Given the description of an element on the screen output the (x, y) to click on. 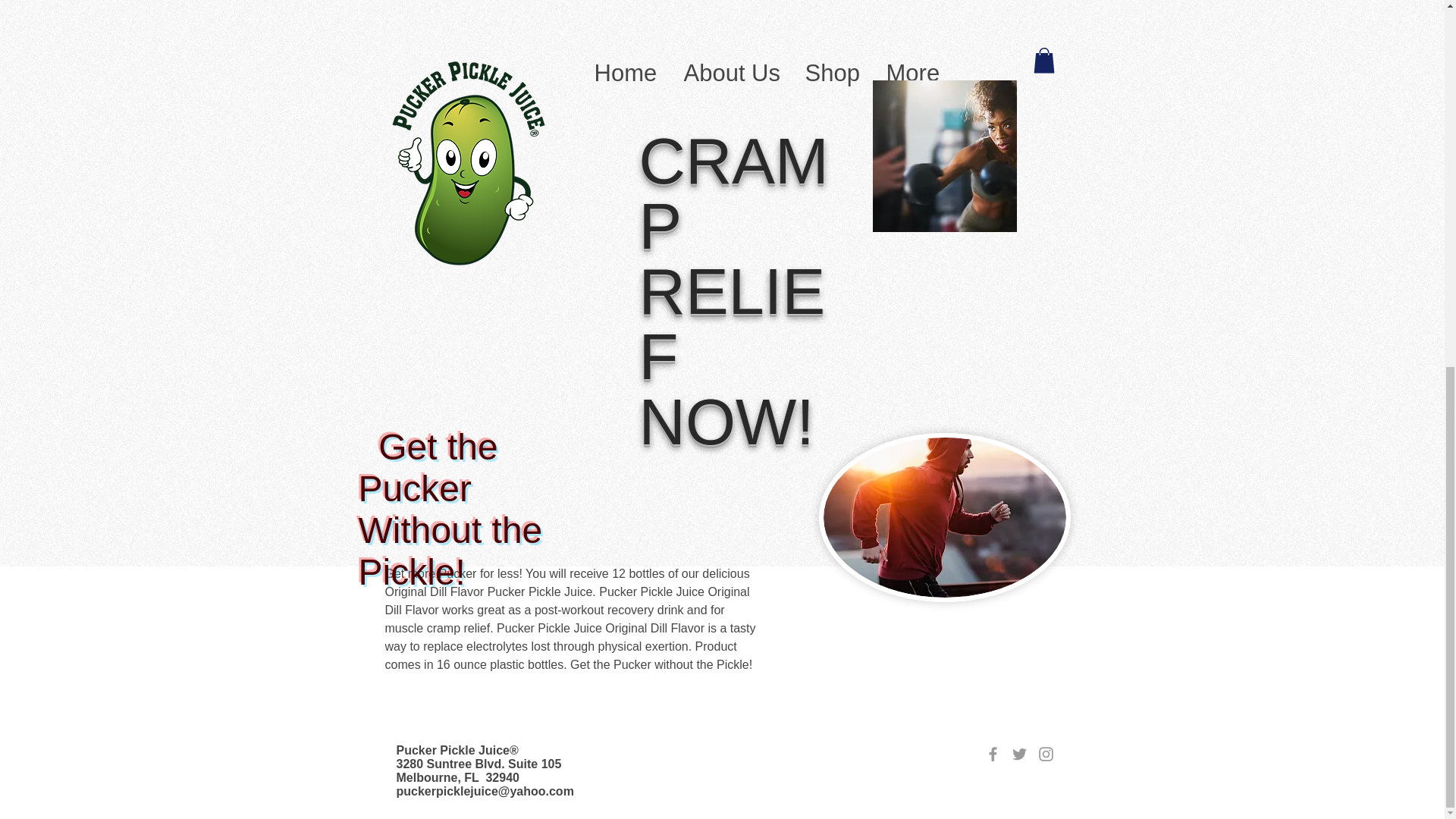
Ingredients (924, 249)
1 (818, 135)
Add to Cart (924, 190)
Free Shipping (828, 79)
